Given the description of an element on the screen output the (x, y) to click on. 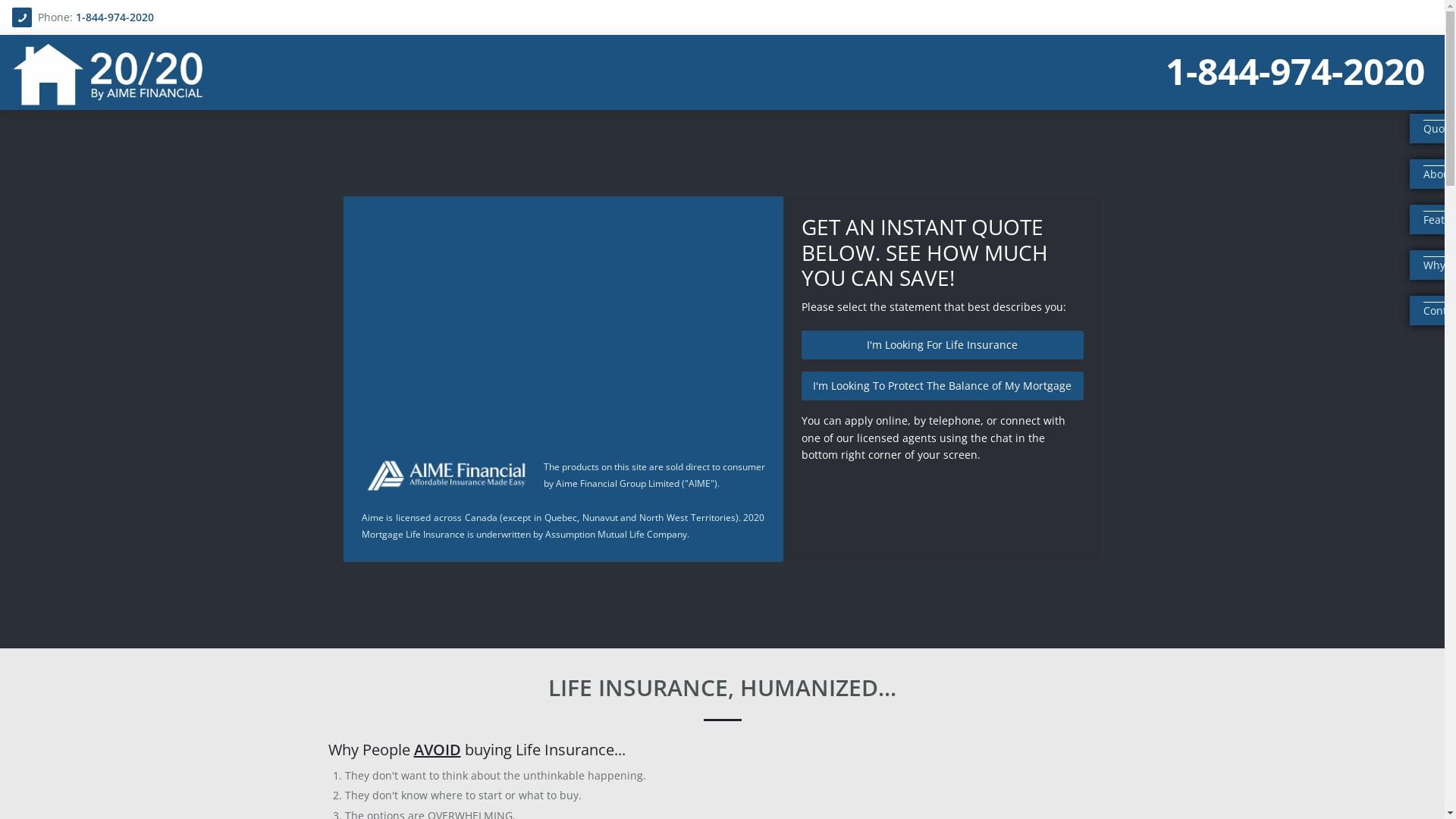
1-844-974-2020 Element type: text (1294, 70)
1-844-974-2020 Element type: text (114, 17)
AIME Flex Element type: hover (145, 73)
